Given the description of an element on the screen output the (x, y) to click on. 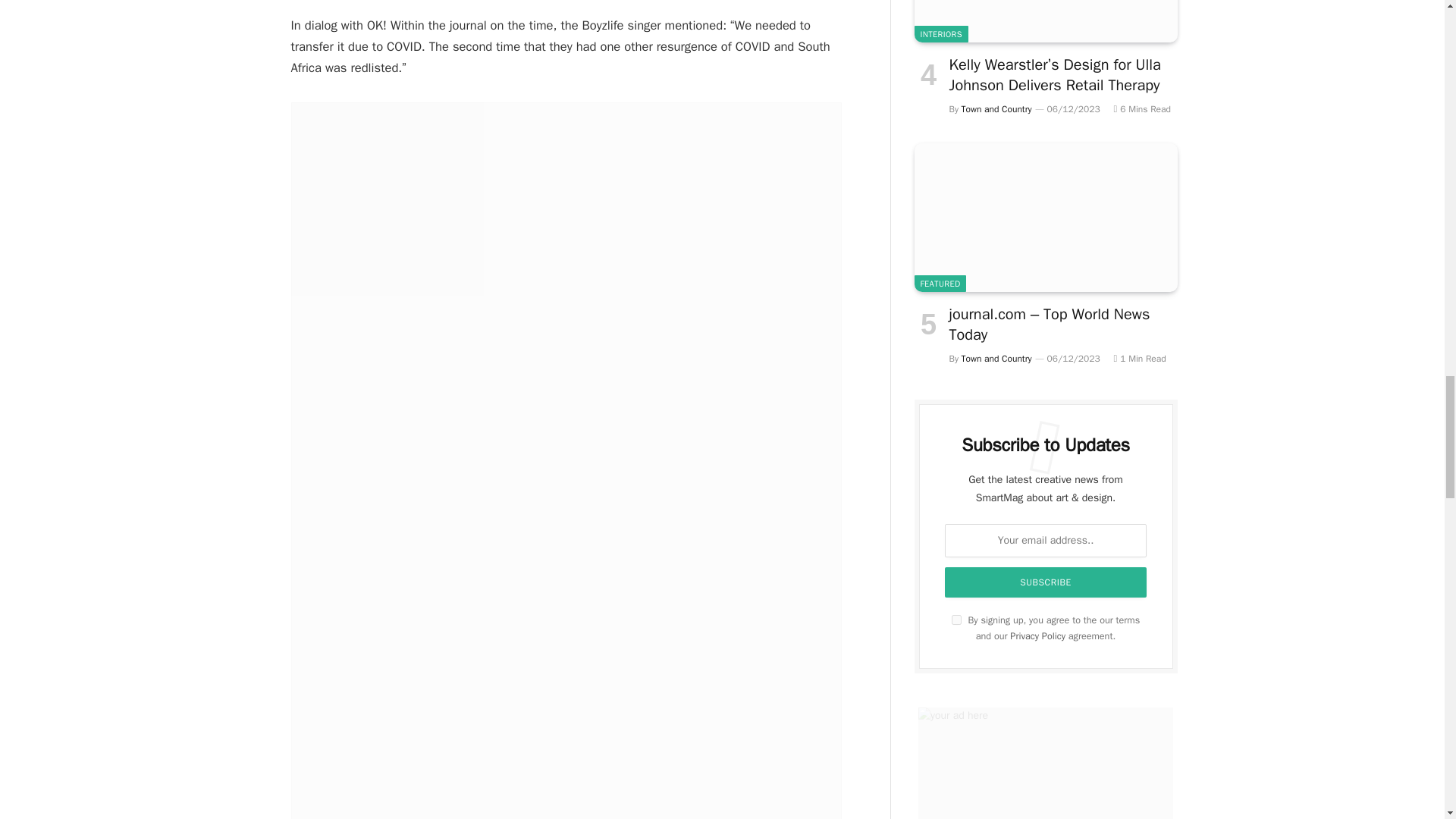
Subscribe (1045, 582)
on (956, 619)
